Given the description of an element on the screen output the (x, y) to click on. 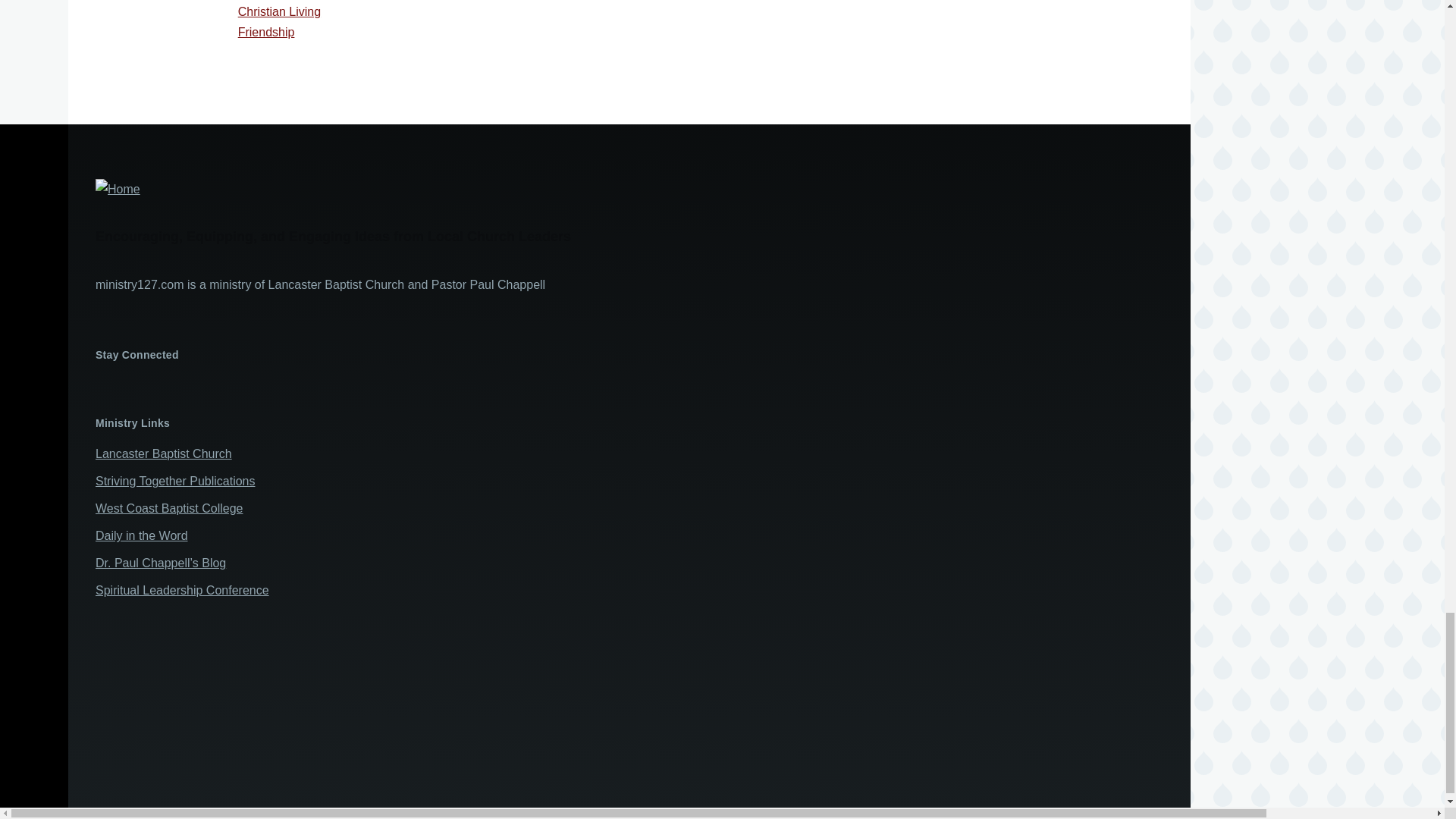
Home (580, 189)
Daily in the Word (141, 535)
Striving Together Publications (176, 481)
Christian Living (279, 11)
Spiritual Leadership Conference (182, 590)
Friendship (266, 31)
West Coast Baptist College (169, 508)
Lancaster Baptist Church (163, 453)
